Given the description of an element on the screen output the (x, y) to click on. 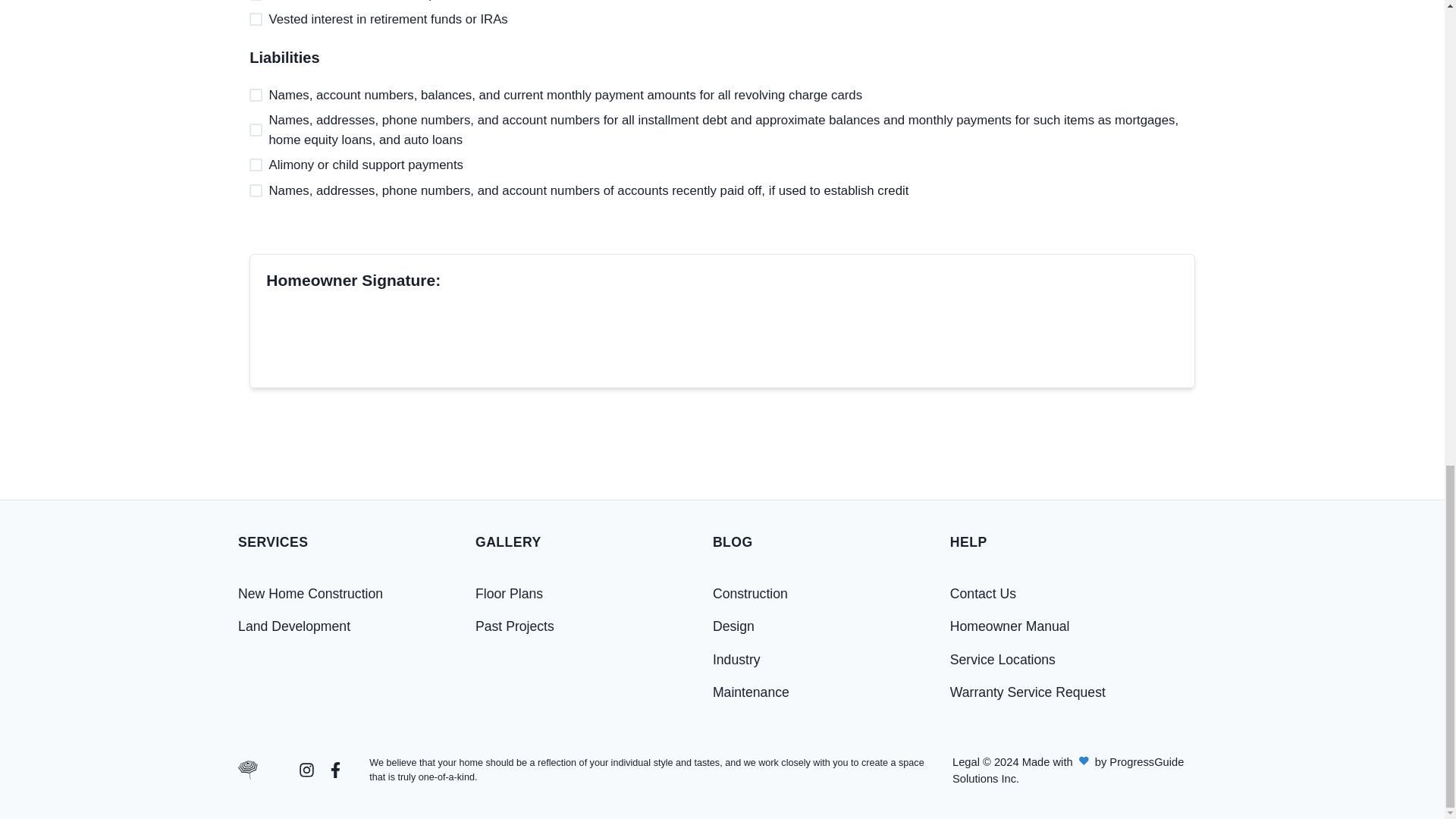
Construction (750, 593)
Floor Plans (509, 593)
Land Development (294, 626)
Past Projects (515, 626)
New Home Construction (310, 593)
